Given the description of an element on the screen output the (x, y) to click on. 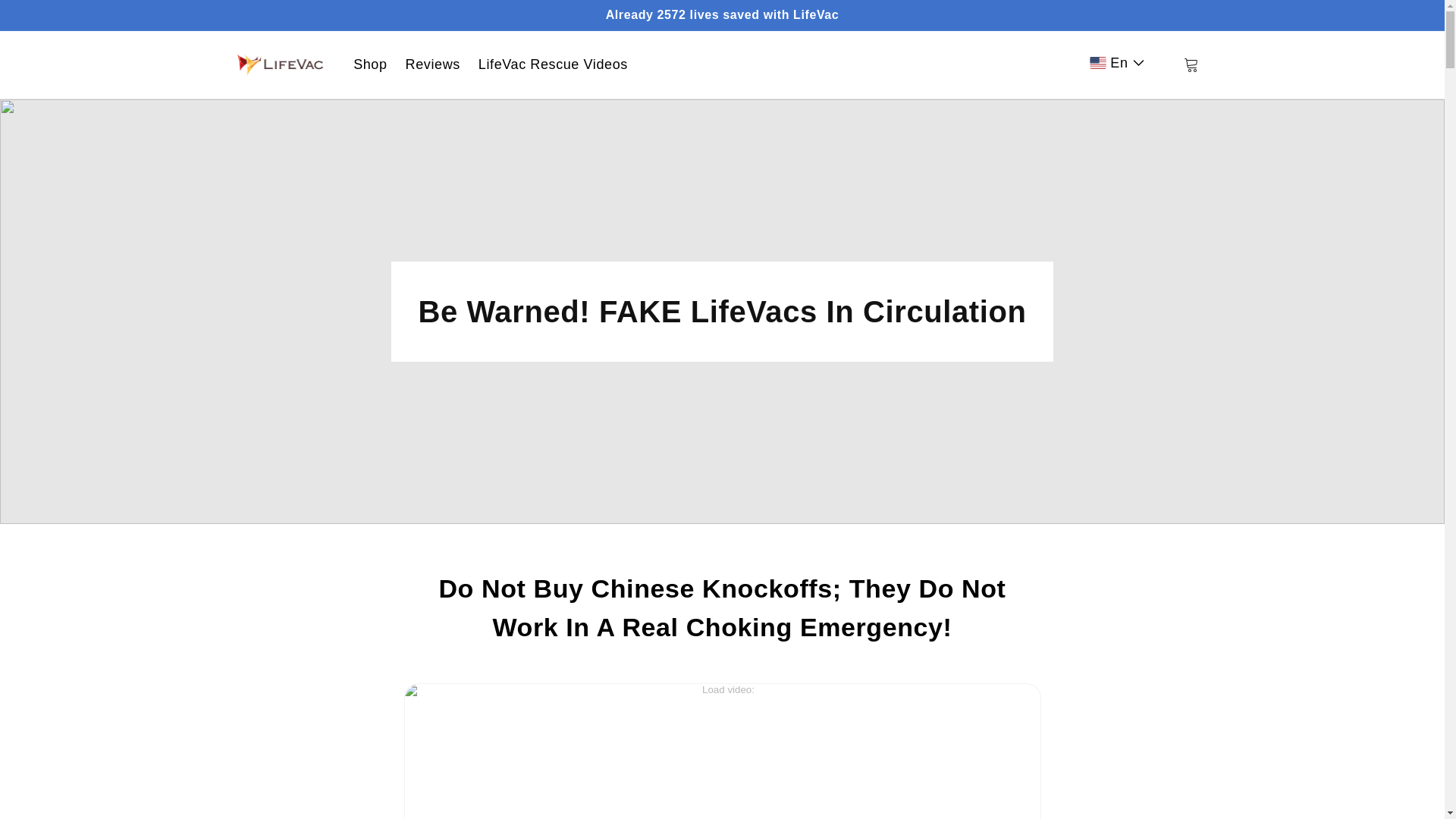
Shop (369, 63)
LifeVac Rescue Videos (552, 63)
Skip to content (105, 17)
Cart (1190, 64)
Reviews (432, 63)
